Given the description of an element on the screen output the (x, y) to click on. 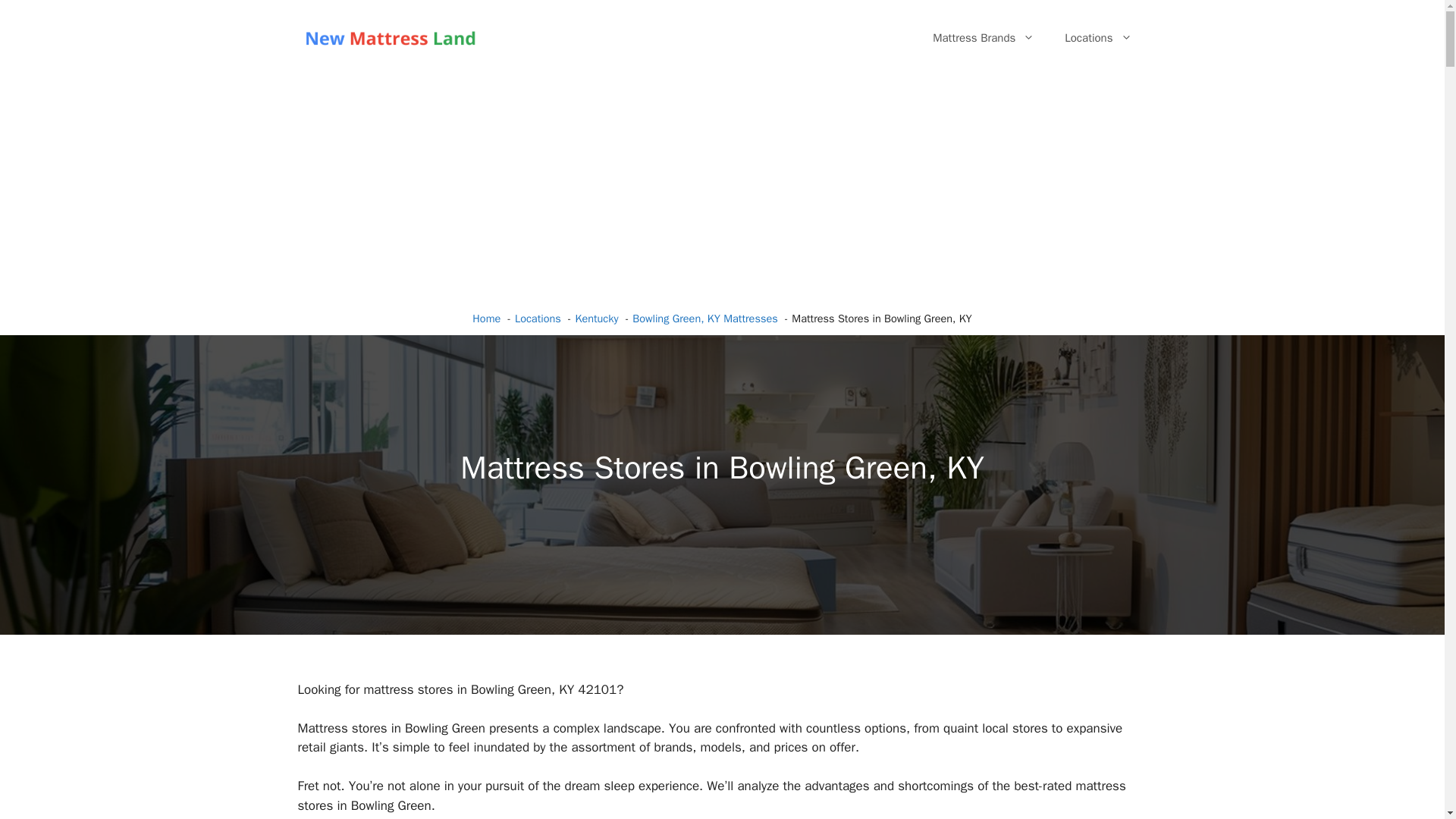
Locations (1098, 37)
Home (485, 318)
Locations (537, 318)
Mattress Brands (983, 37)
